Given the description of an element on the screen output the (x, y) to click on. 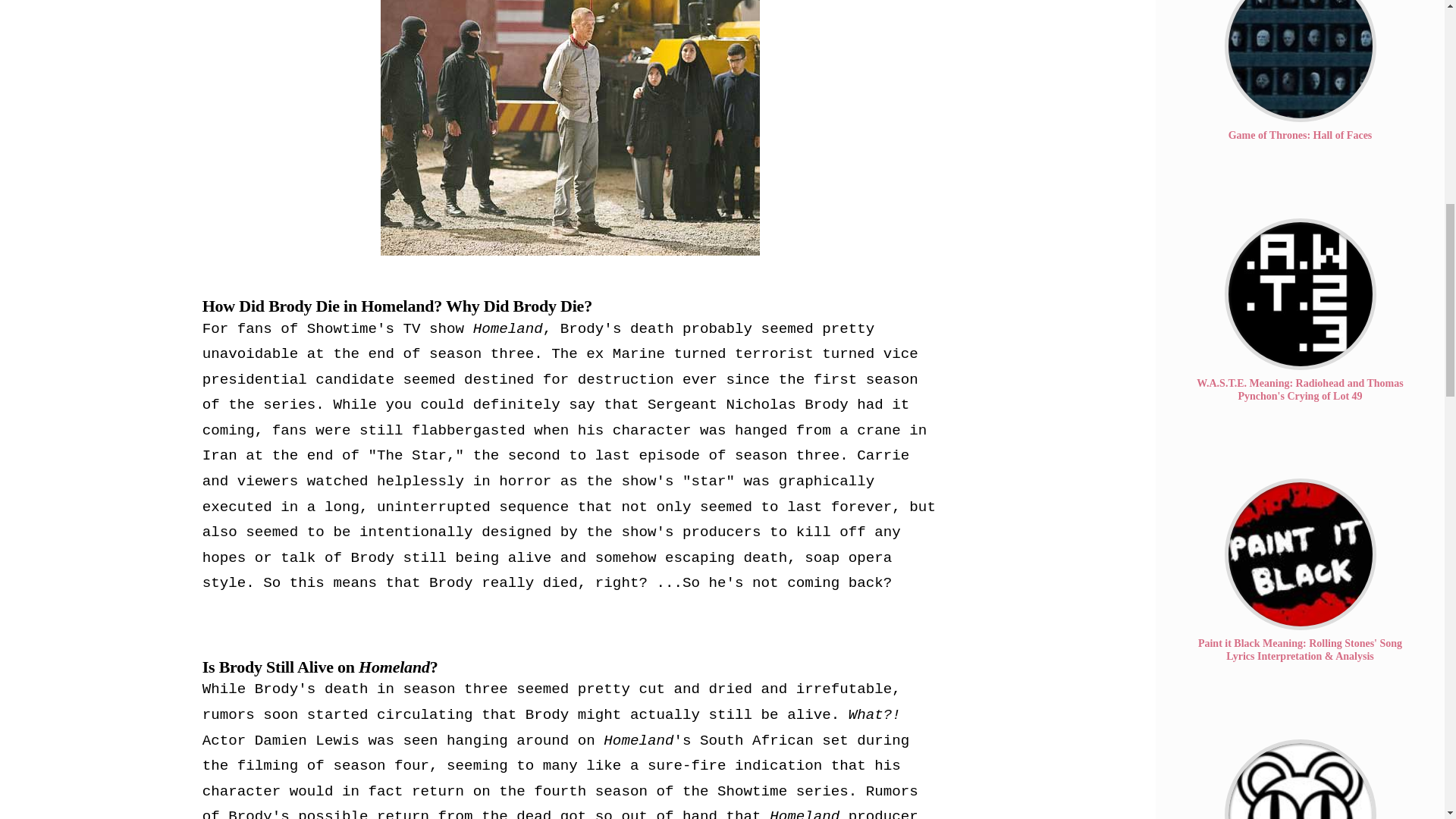
Meaning of Radiohead's Kid A  (1299, 779)
Game of Thrones: Hall of Faces (1299, 61)
Game of Thrones: Hall of Faces (1300, 134)
